Given the description of an element on the screen output the (x, y) to click on. 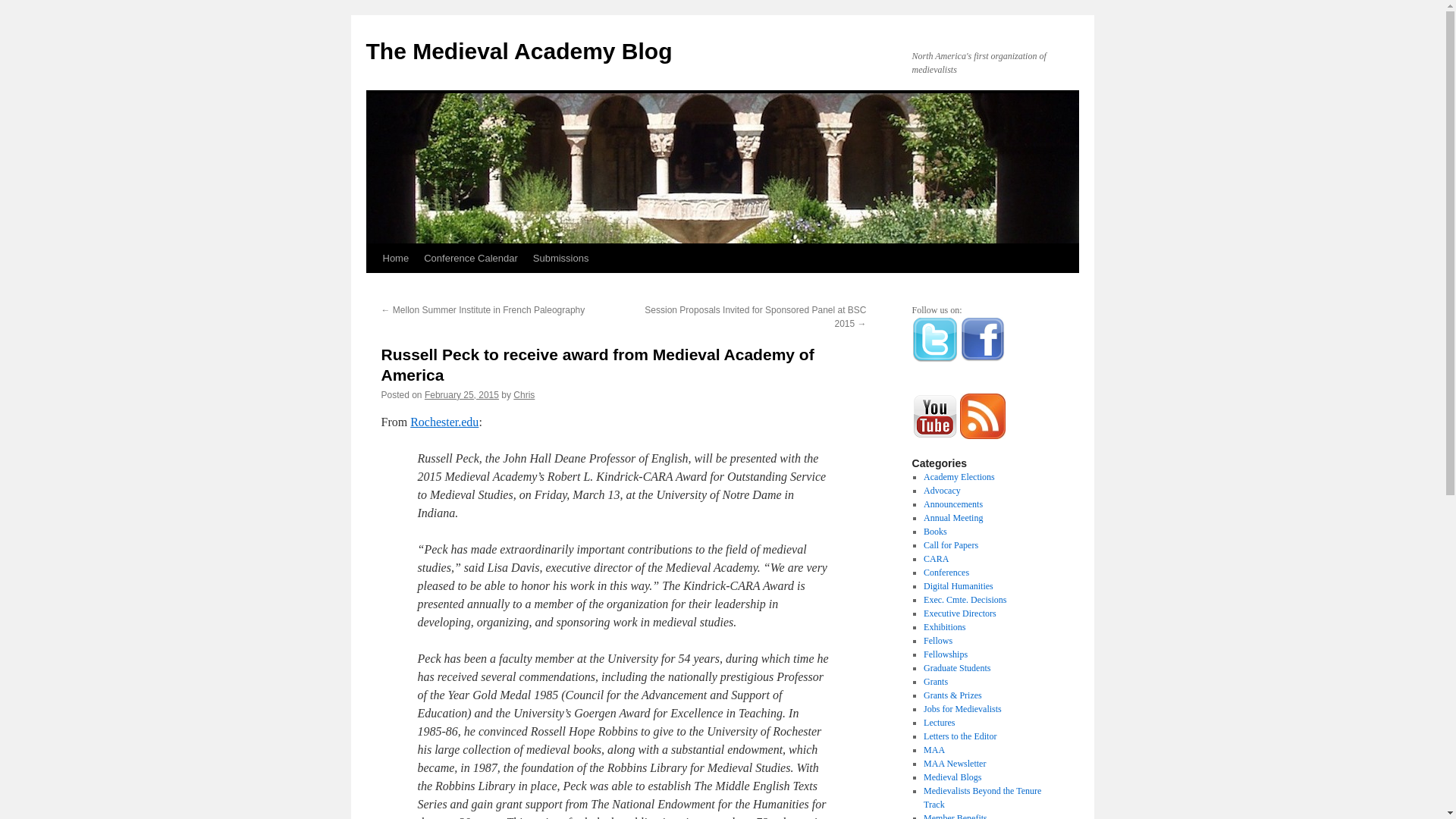
View all posts by Chris (523, 394)
Submissions (560, 258)
Call for Papers (950, 544)
Advocacy (941, 490)
The Medieval Academy Blog (518, 50)
Conferences (946, 572)
CARA (936, 558)
Skip to content (372, 286)
Graduate Students (956, 667)
Annual Meeting (952, 517)
Chris (523, 394)
Announcements (952, 503)
Rochester.edu (444, 421)
Jobs for Medievalists (962, 708)
Exec. Cmte. Decisions (964, 599)
